Given the description of an element on the screen output the (x, y) to click on. 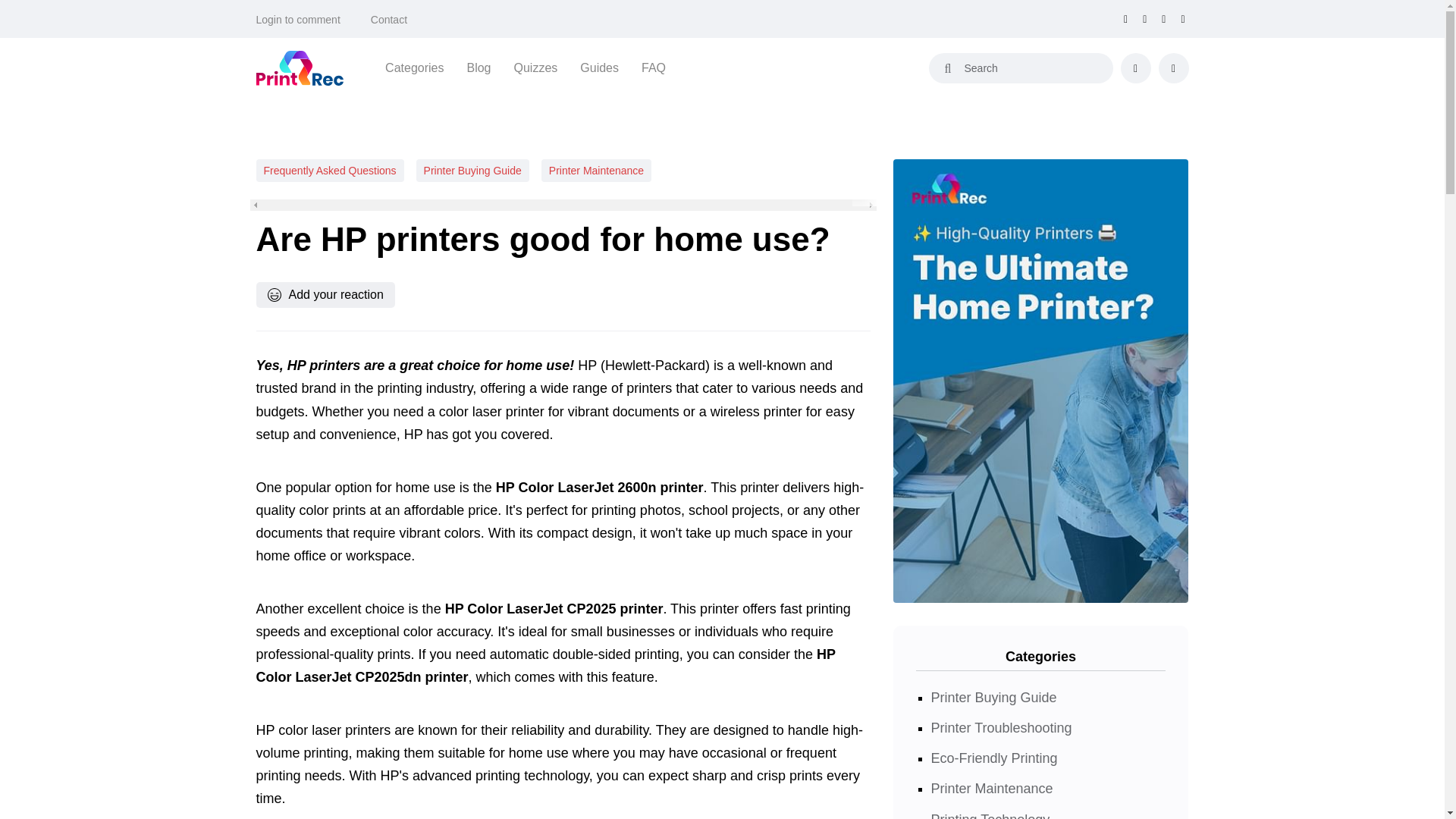
Categories (414, 67)
Login to comment (298, 19)
Contact (389, 19)
